Given the description of an element on the screen output the (x, y) to click on. 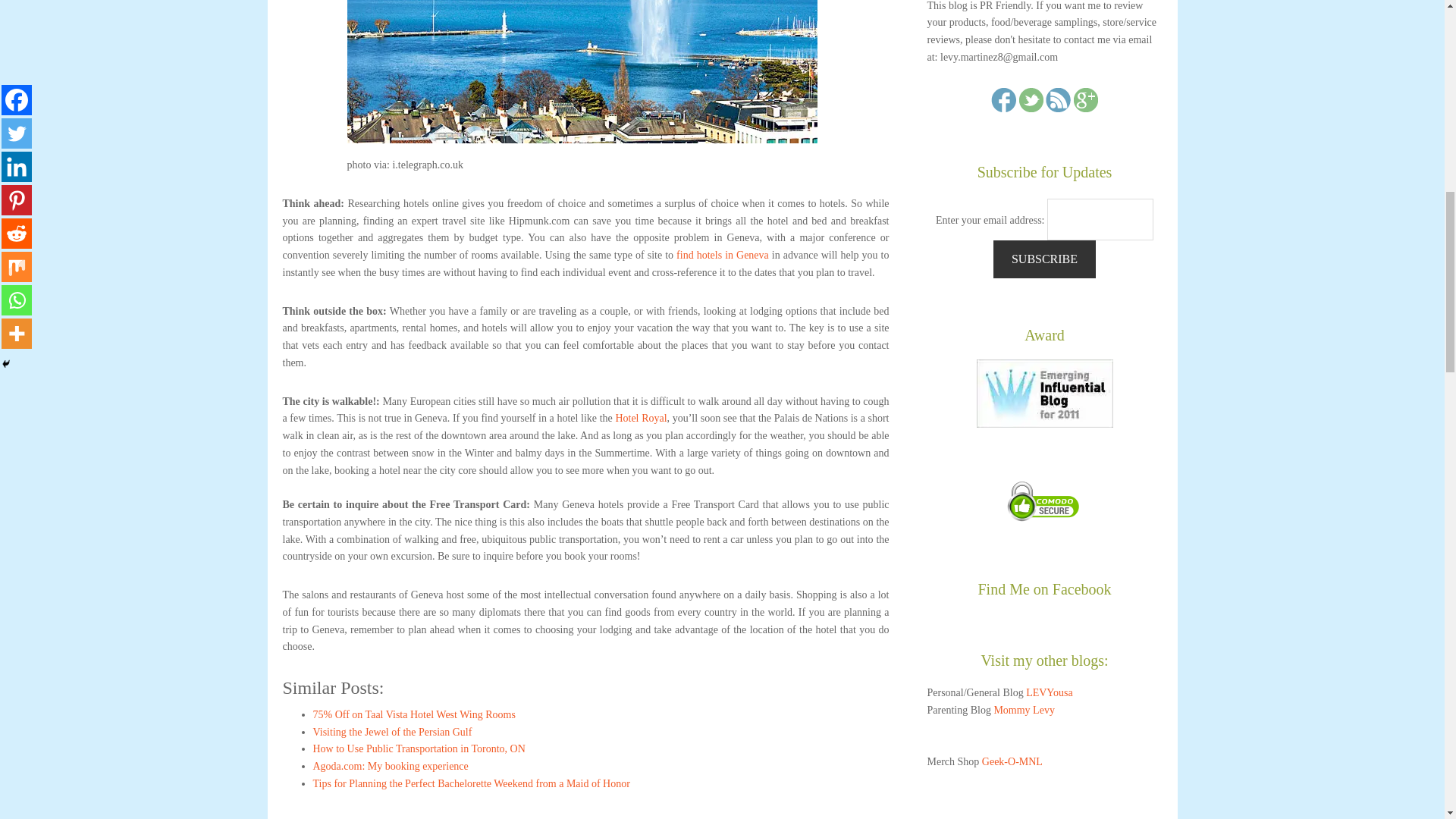
Agoda.com: My booking experience (390, 766)
Subscribe (1044, 259)
March 26, 2015 (392, 731)
August 5, 2015 (470, 783)
find hotels in Geneva (722, 255)
How to Use Public Transportation in Toronto, ON (418, 748)
July 23, 2015 (418, 748)
Visiting the Jewel of the Persian Gulf (392, 731)
July 3, 2012 (414, 714)
